Given the description of an element on the screen output the (x, y) to click on. 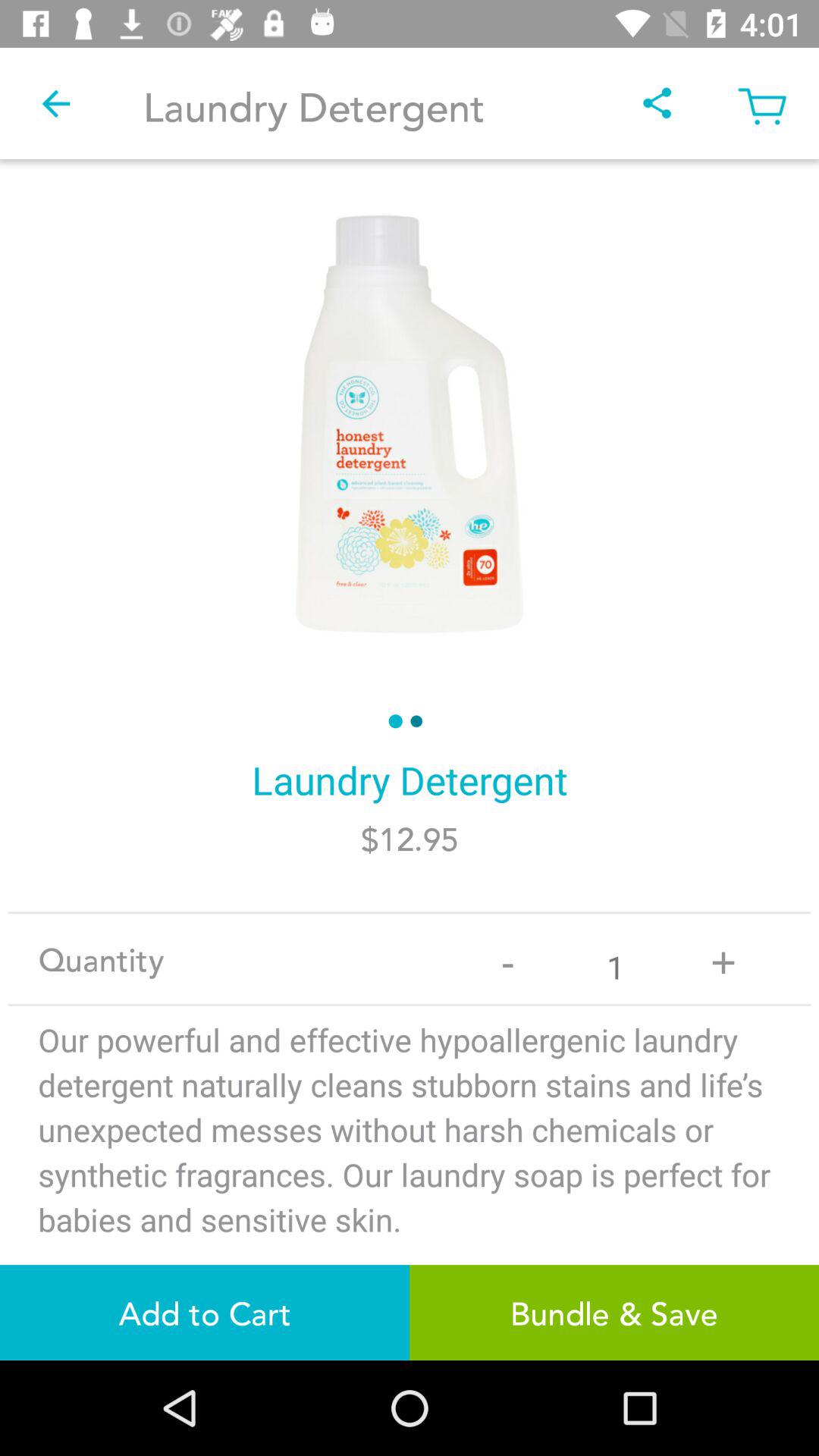
click the icon at the top left corner (55, 103)
